Given the description of an element on the screen output the (x, y) to click on. 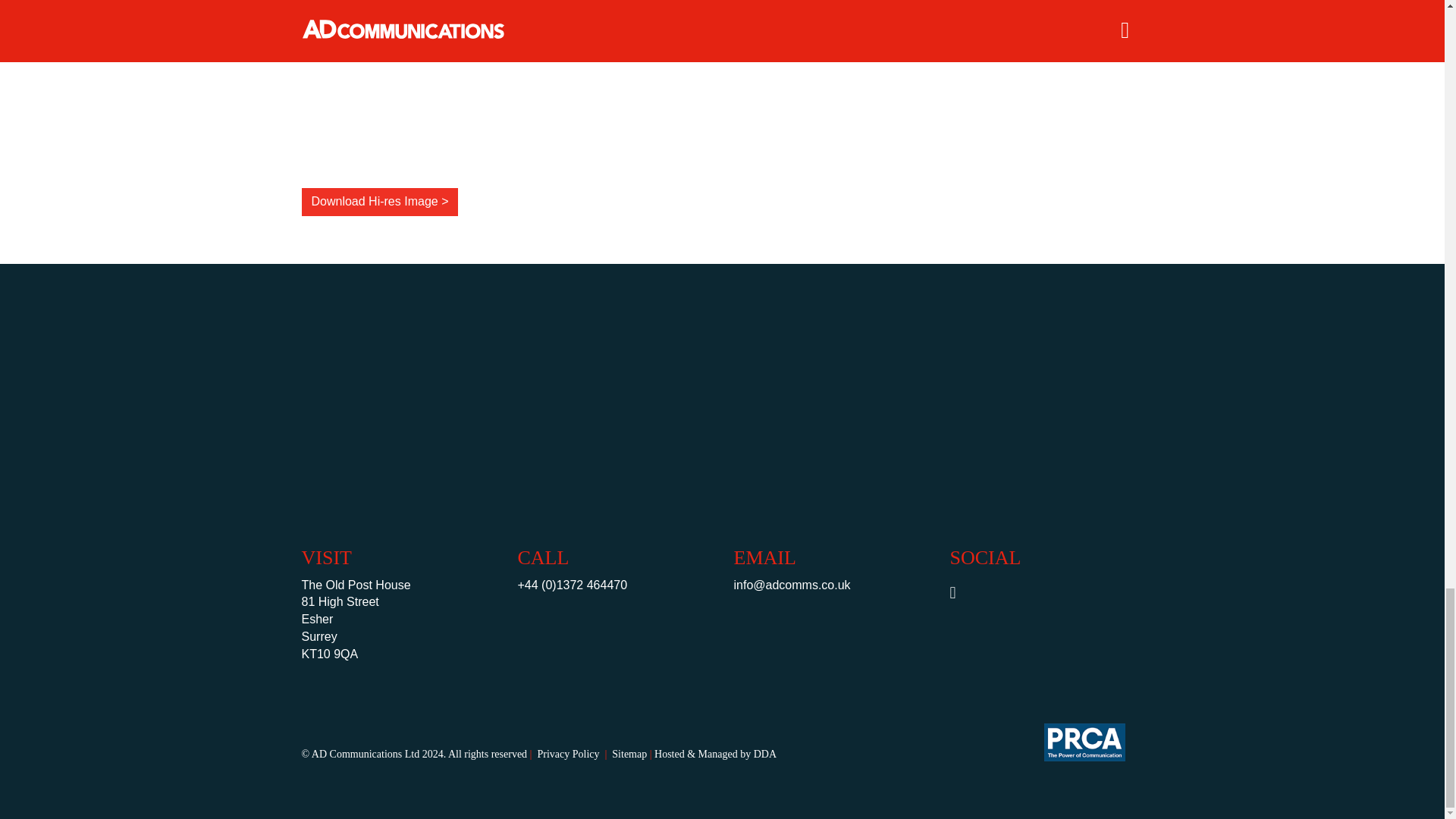
Sitemap (624, 754)
Privacy Policy (562, 754)
DDA (765, 754)
Find AD Communications on LinkedIn (960, 594)
Foamalux Xtra (379, 83)
